Given the description of an element on the screen output the (x, y) to click on. 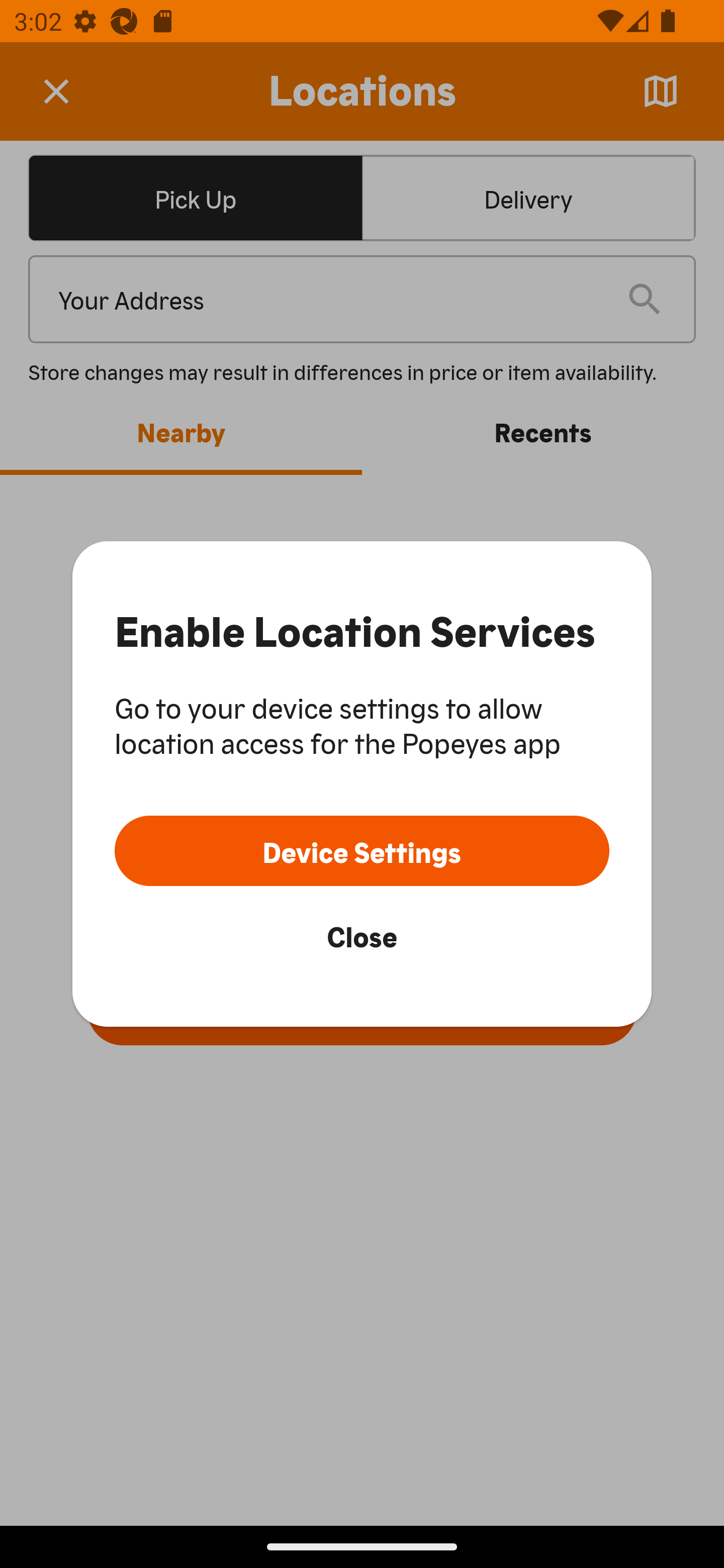
Device Settings (361, 850)
Close (361, 935)
